Given the description of an element on the screen output the (x, y) to click on. 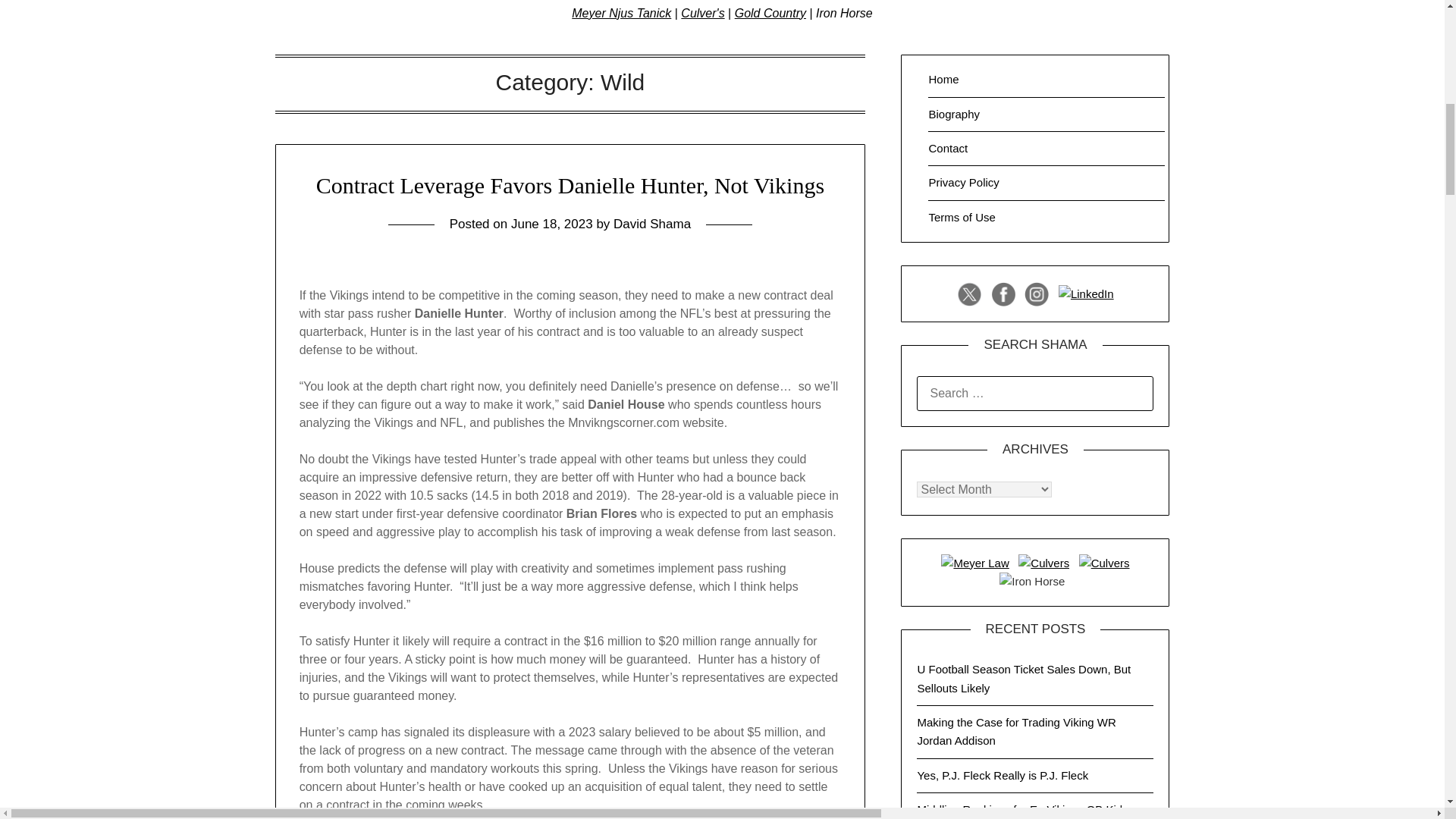
Meyer Njus Tanick (621, 11)
Gold Country (770, 11)
Culver's (702, 11)
Contract Leverage Favors Danielle Hunter, Not Vikings (569, 185)
June 18, 2023 (551, 223)
David Shama (651, 223)
